Given the description of an element on the screen output the (x, y) to click on. 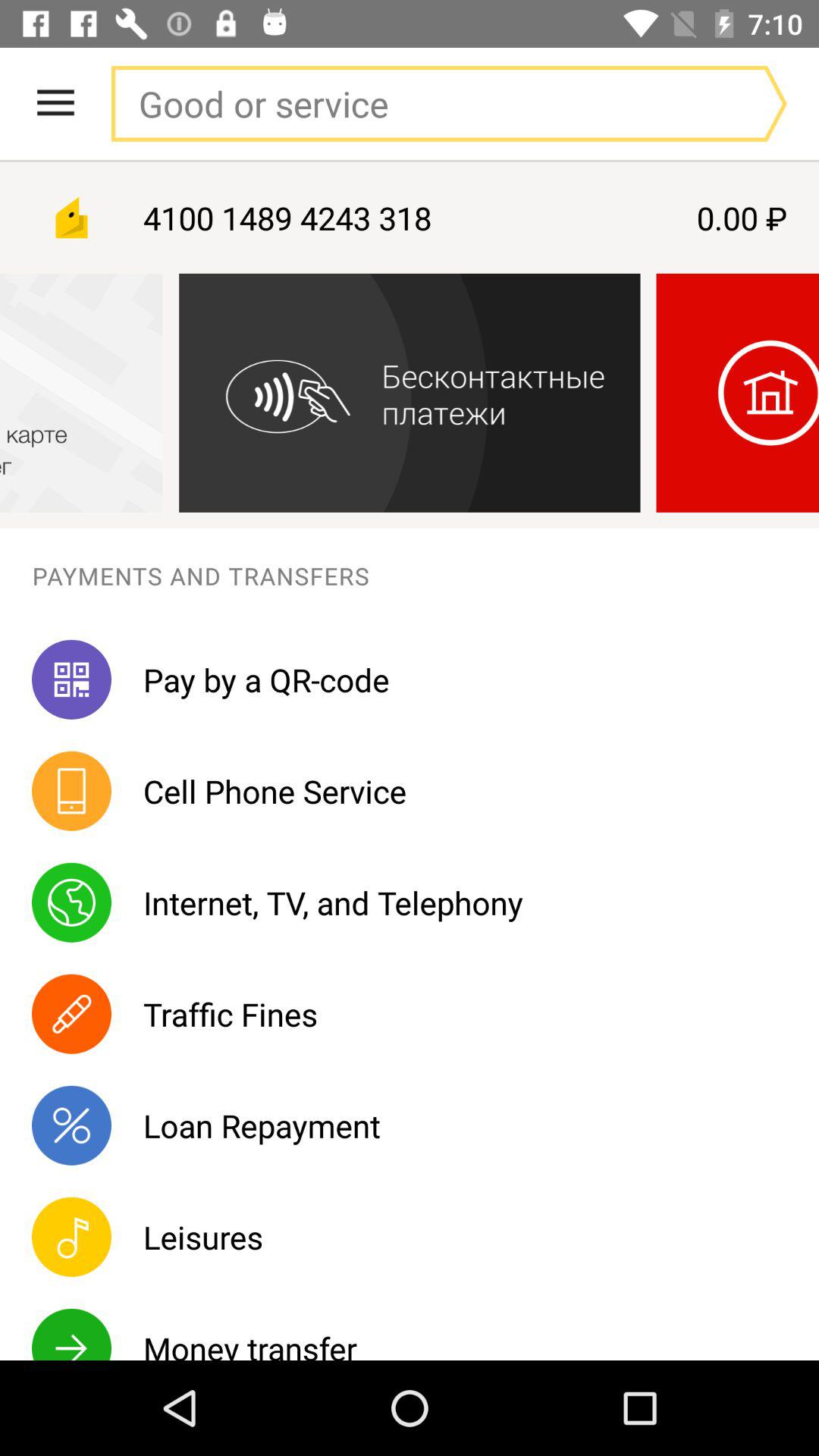
search box (417, 103)
